Given the description of an element on the screen output the (x, y) to click on. 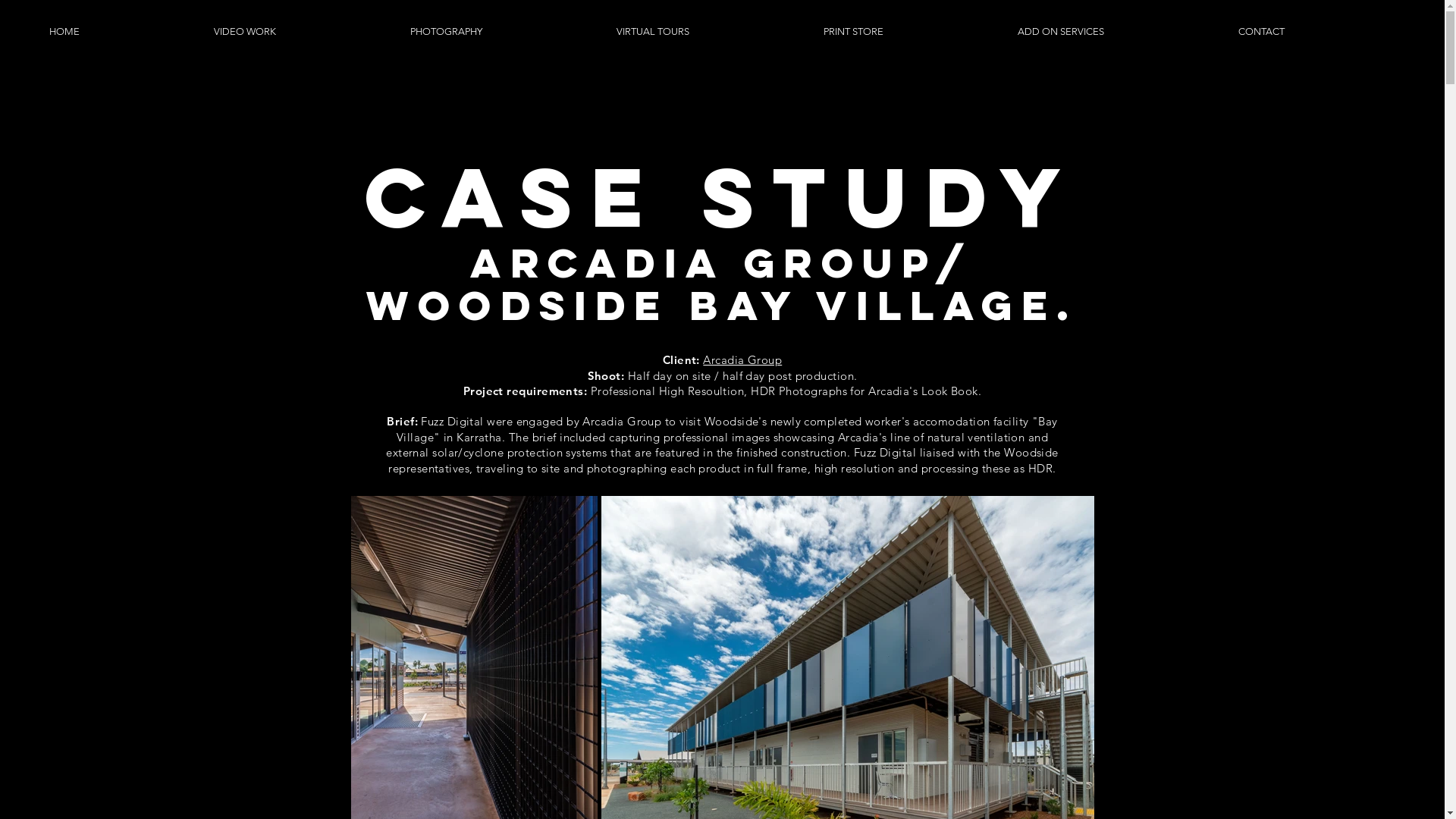
PRINT STORE Element type: text (909, 31)
ADD ON SERVICES Element type: text (1116, 31)
VIRTUAL TOURS Element type: text (708, 31)
Arcadia Group Element type: text (741, 359)
PHOTOGRAPHY Element type: text (501, 31)
HOME Element type: text (119, 31)
CONTACT Element type: text (1316, 31)
VIDEO WORK Element type: text (300, 31)
